Given the description of an element on the screen output the (x, y) to click on. 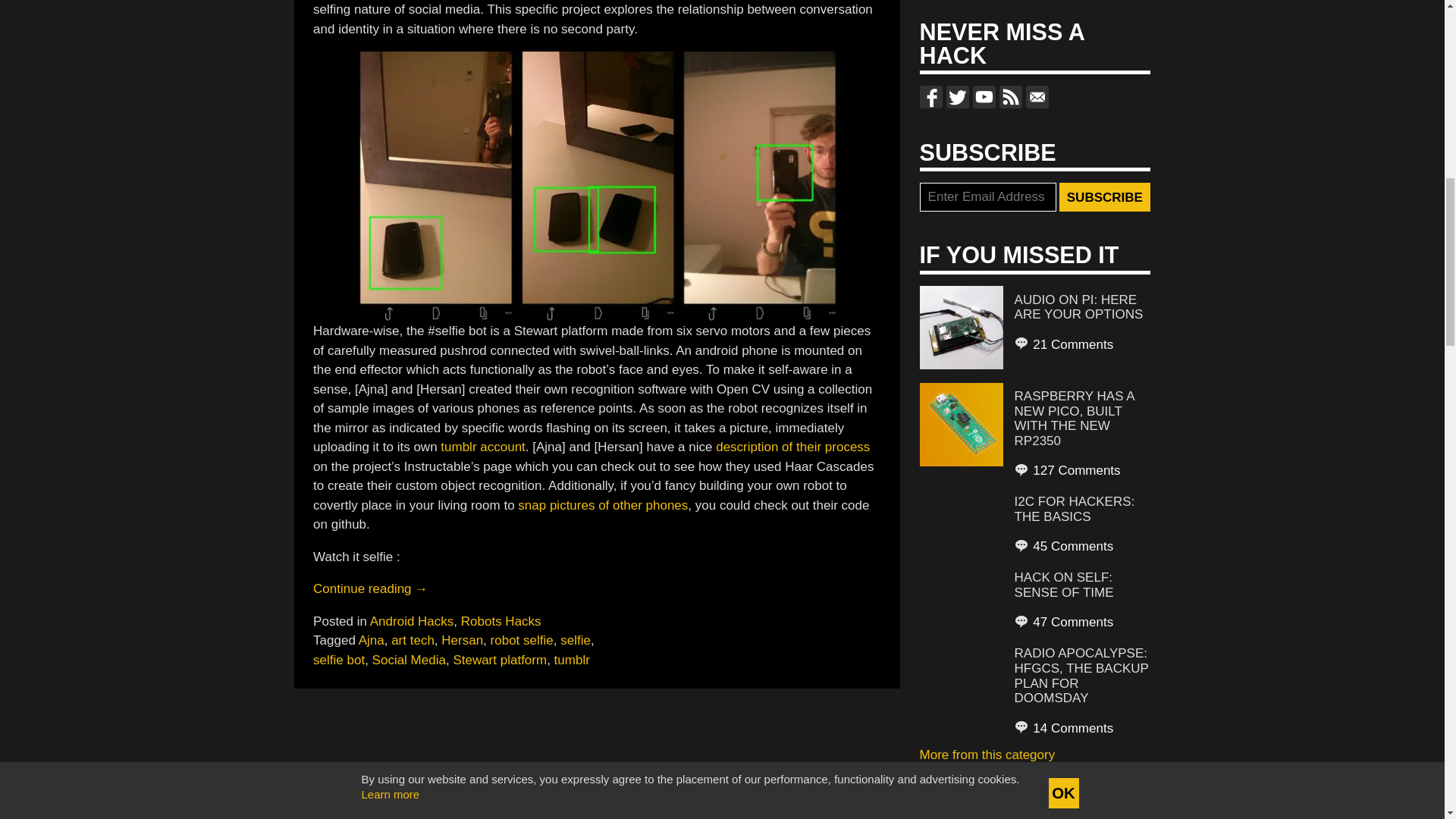
Subscribe (1104, 196)
Ajna (371, 640)
tumblr (571, 659)
snap pictures of other phones (602, 504)
robot selfie (521, 640)
selfie (575, 640)
Android Hacks (411, 621)
description of their process (792, 446)
Robots Hacks (501, 621)
tumblr account (483, 446)
